Given the description of an element on the screen output the (x, y) to click on. 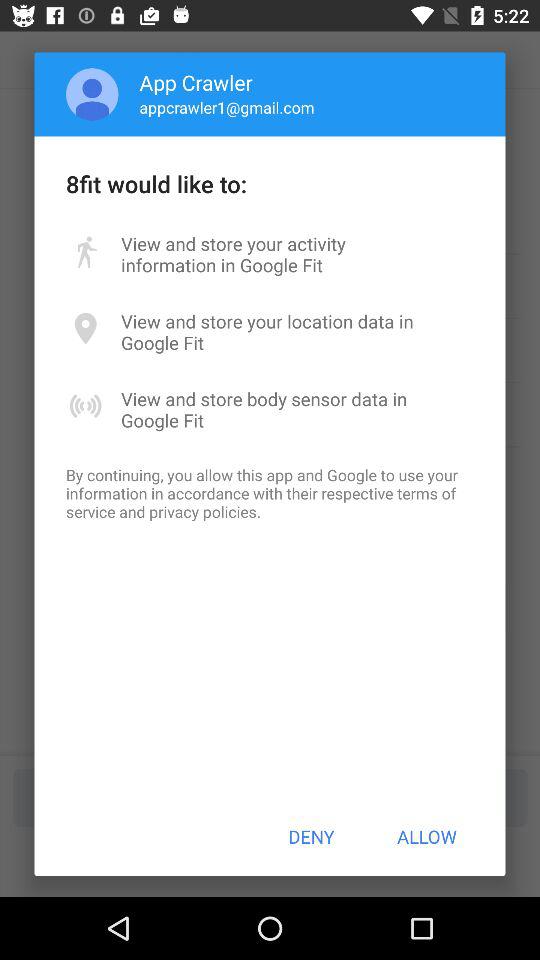
flip until deny (311, 836)
